Given the description of an element on the screen output the (x, y) to click on. 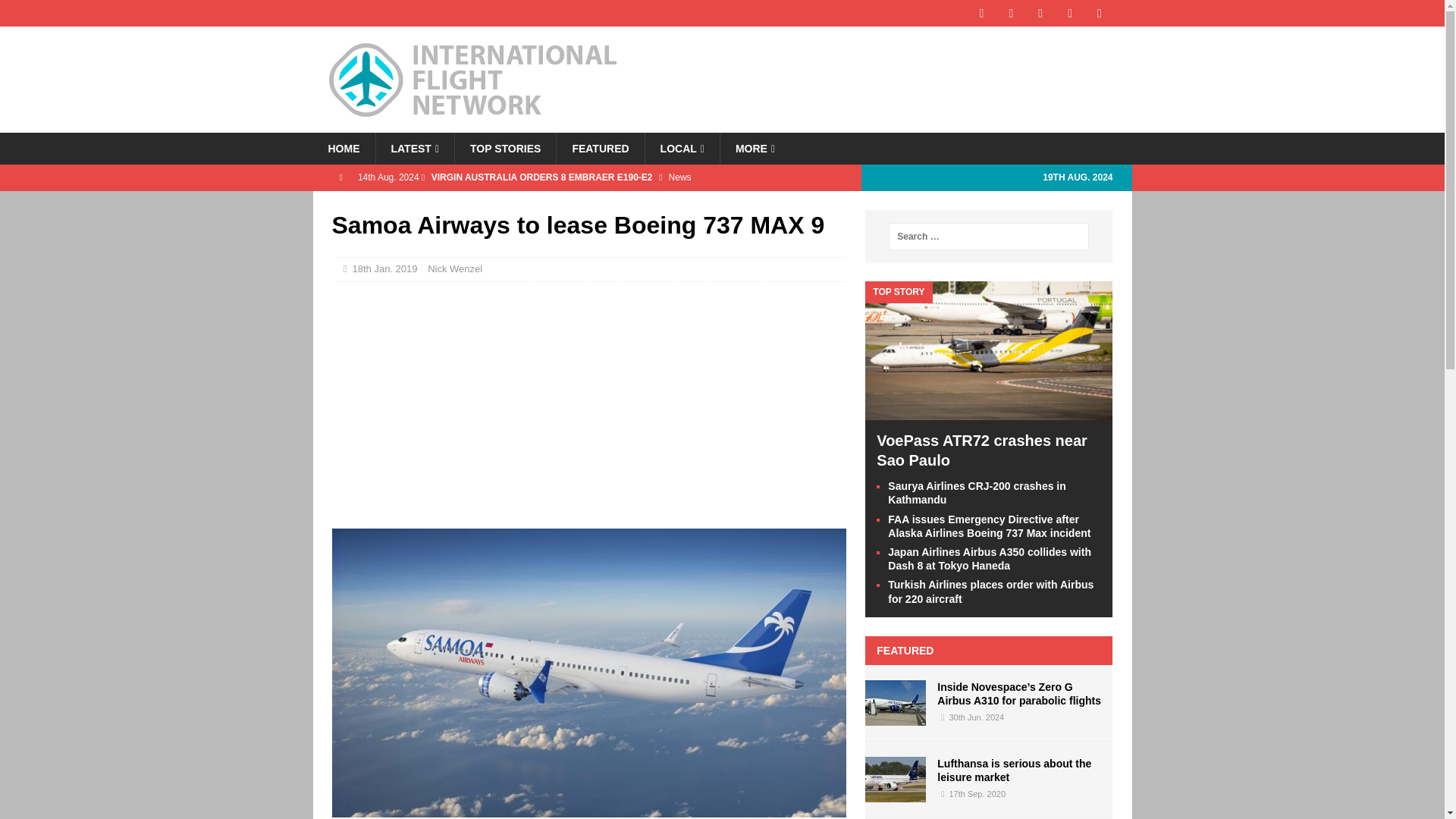
Virgin Australia orders 8 Embraer E190-E2 (699, 177)
TOP STORIES (505, 148)
Cathay Paciplaces order for 30 Airbus A330neo (699, 203)
LOCAL (682, 148)
Posts by Nick Wenzel (454, 268)
FEATURED (599, 148)
HOME (343, 148)
Advertisement (588, 403)
LATEST (414, 148)
